Given the description of an element on the screen output the (x, y) to click on. 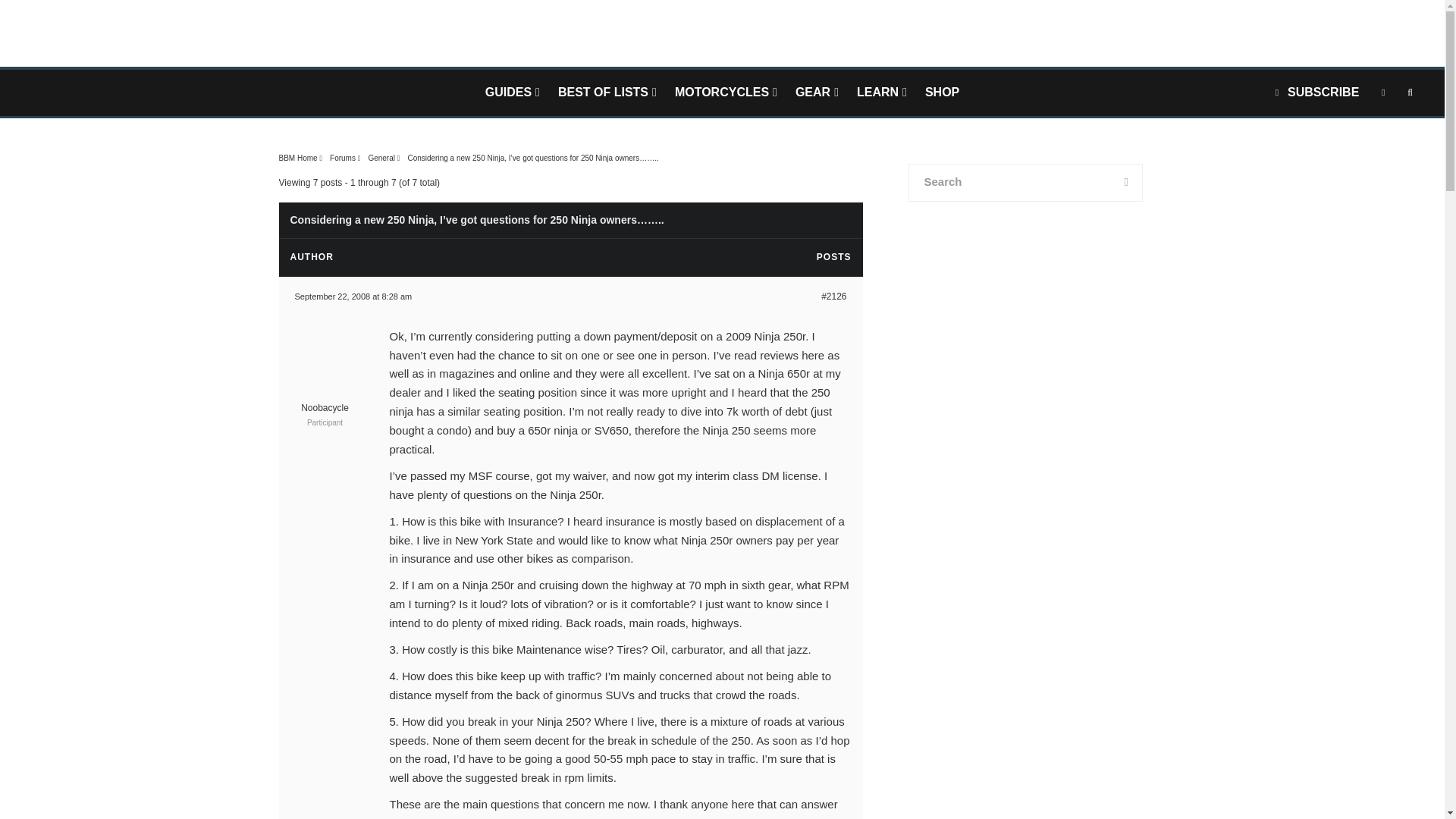
GUIDES (512, 92)
GEAR (816, 92)
MOTORCYCLES (725, 92)
BEST OF LISTS (606, 92)
LEARN (881, 92)
View Noobacycle's profile (324, 400)
